Given the description of an element on the screen output the (x, y) to click on. 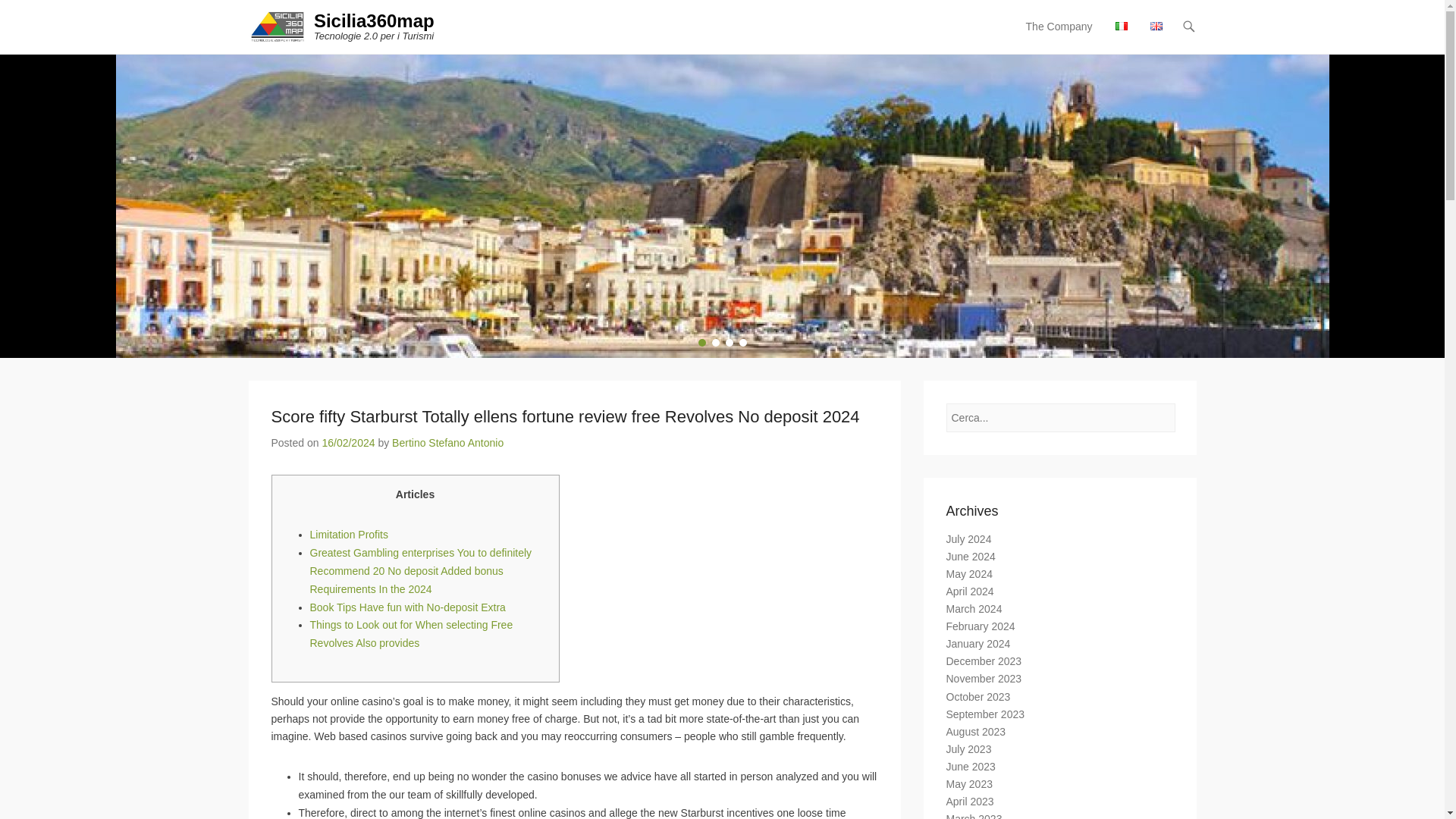
4 (741, 342)
3 (728, 342)
1 (700, 342)
February 2024 (980, 625)
The Company (1058, 35)
12:02 (347, 442)
May 2024 (969, 573)
Limitation Profits (347, 534)
View all posts by Bertino Stefano Antonio (447, 442)
2 (715, 342)
June 2024 (970, 556)
January 2024 (978, 644)
Bertino Stefano Antonio (447, 442)
